Given the description of an element on the screen output the (x, y) to click on. 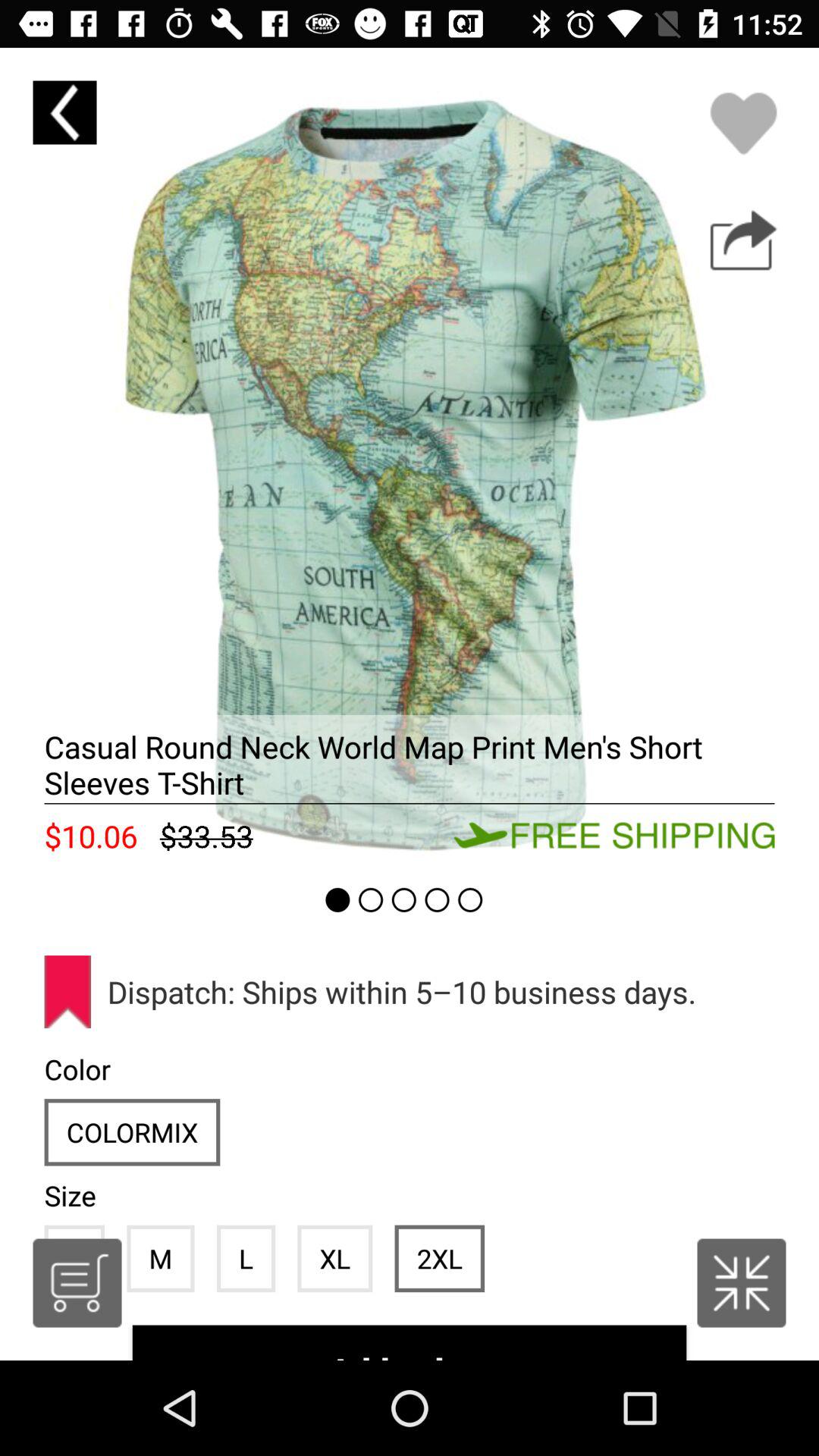
choose item next to m icon (76, 1282)
